Given the description of an element on the screen output the (x, y) to click on. 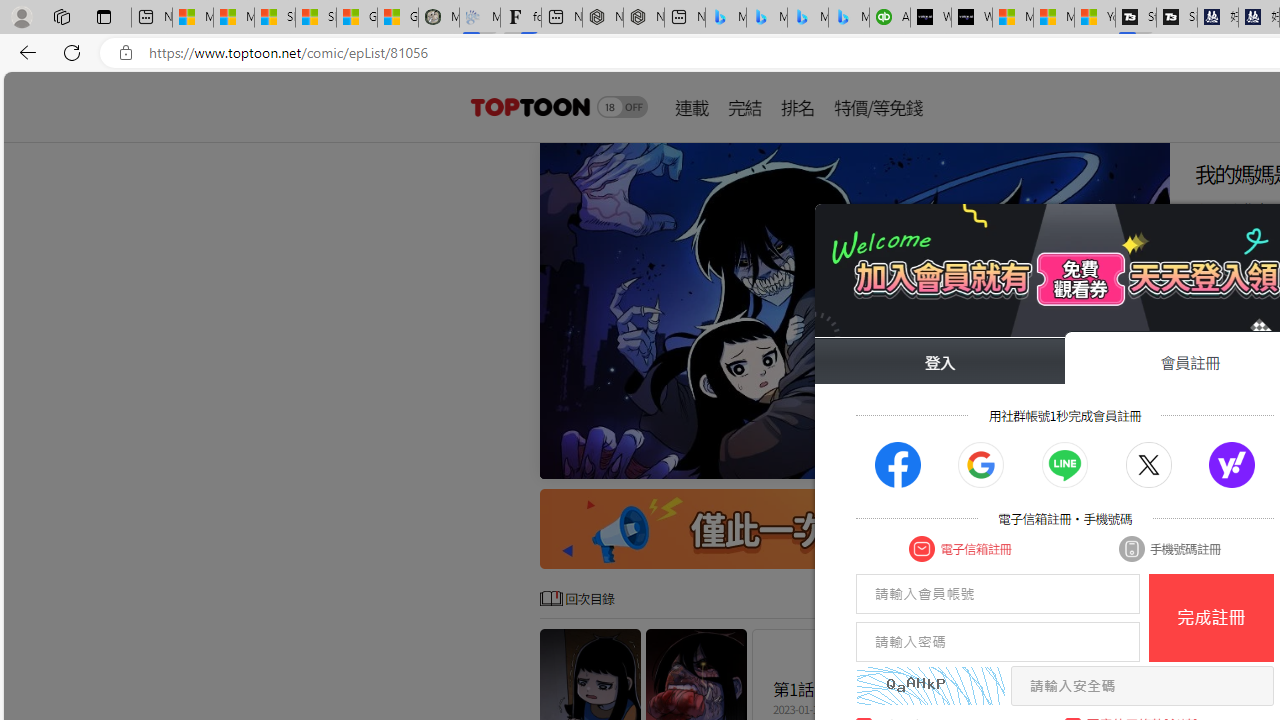
captcha (930, 686)
Class:  switch_18mode actionAdultBtn (621, 106)
